Given the description of an element on the screen output the (x, y) to click on. 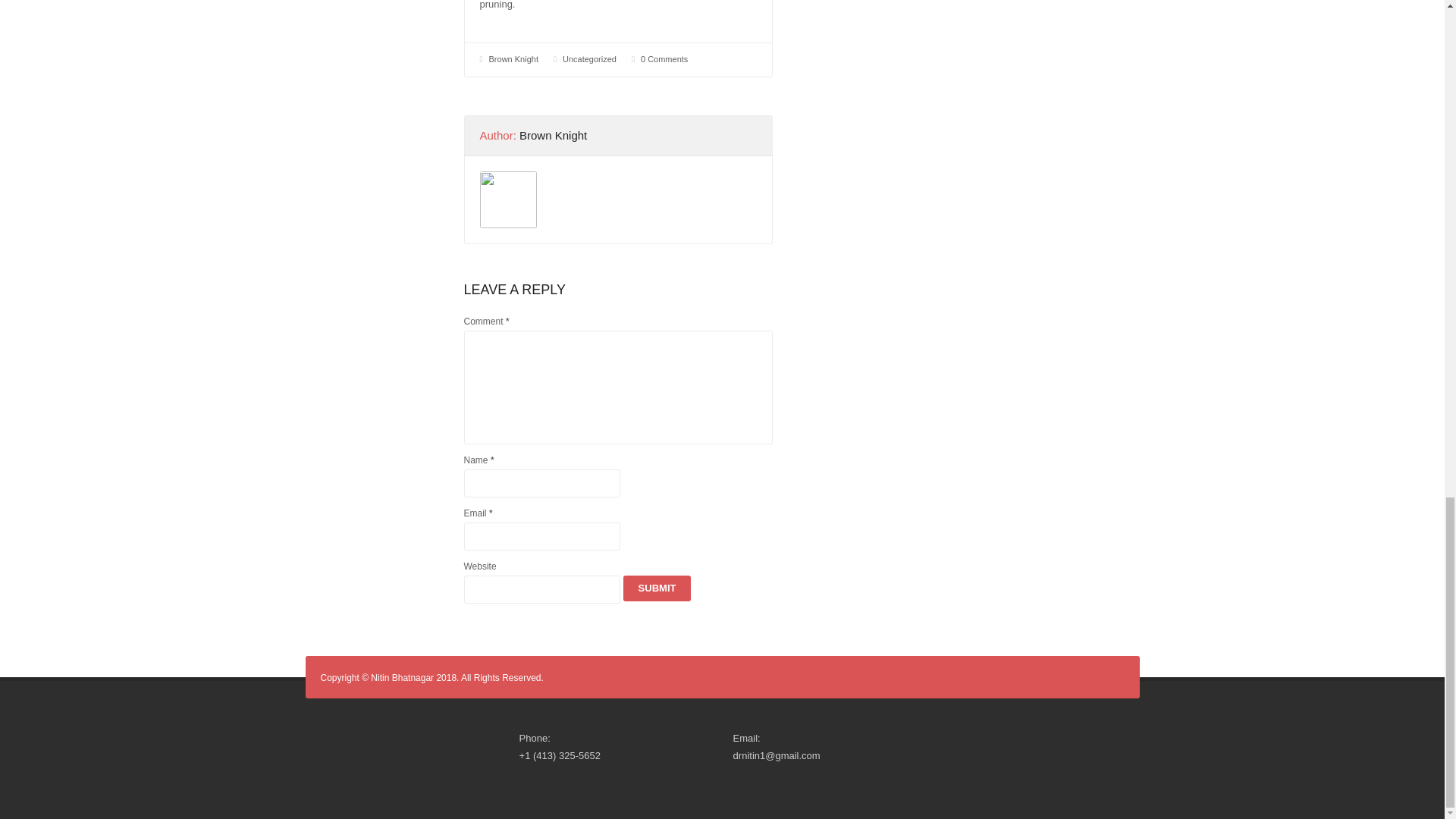
Submit (657, 588)
Uncategorized (588, 58)
View all posts in Uncategorized (588, 58)
Submit (657, 588)
Brown Knight (513, 58)
0 Comments (663, 58)
